Given the description of an element on the screen output the (x, y) to click on. 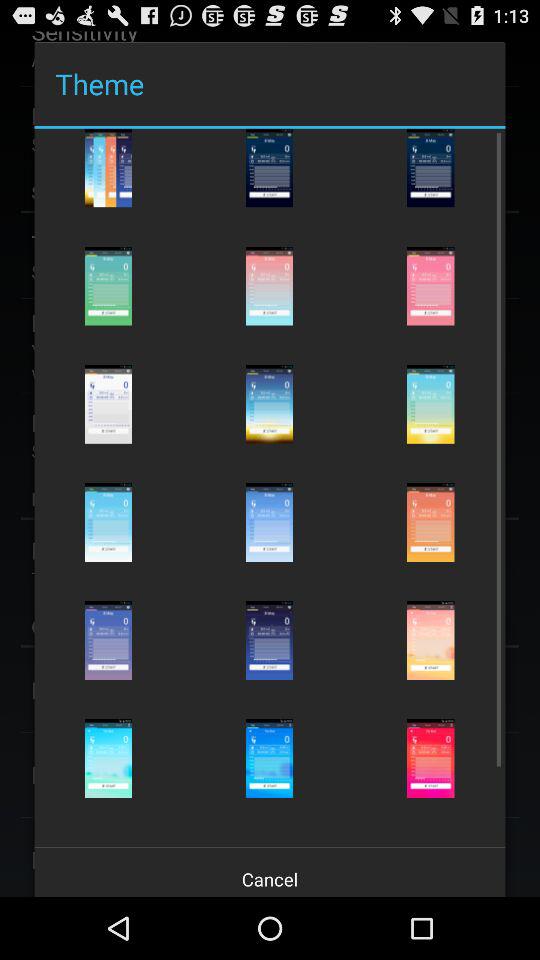
open the cancel item (269, 871)
